Given the description of an element on the screen output the (x, y) to click on. 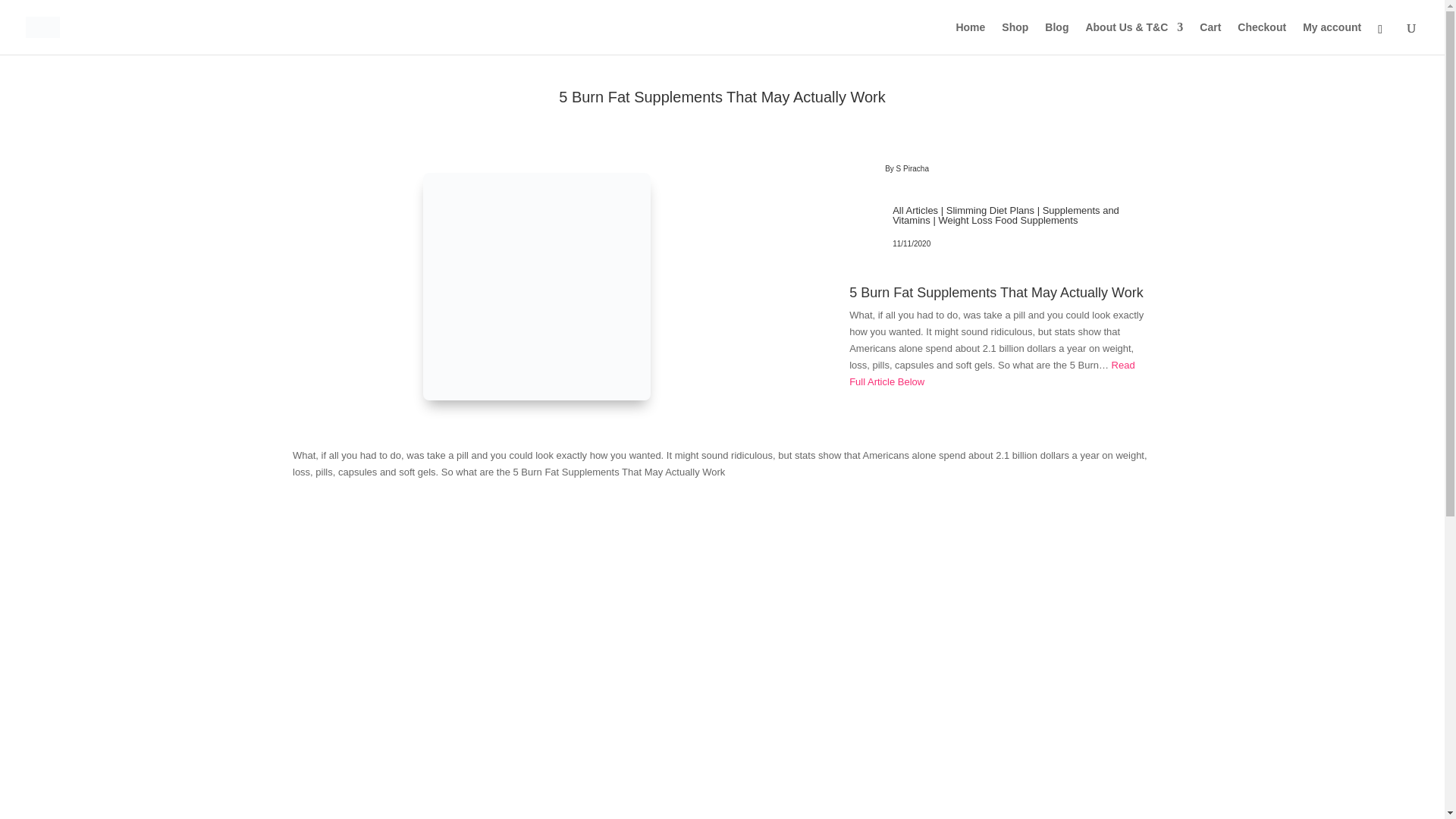
5-Burn-Fat-Supplements-That-May-Actually-Work (536, 286)
S Piracha (912, 168)
Weight Loss Food Supplements (1007, 220)
Read Full Article Below (991, 373)
Checkout (1261, 38)
Slimming Diet Plans (989, 210)
My account (1332, 38)
Home (970, 38)
Supplements and Vitamins (1005, 215)
All Articles (914, 210)
